Given the description of an element on the screen output the (x, y) to click on. 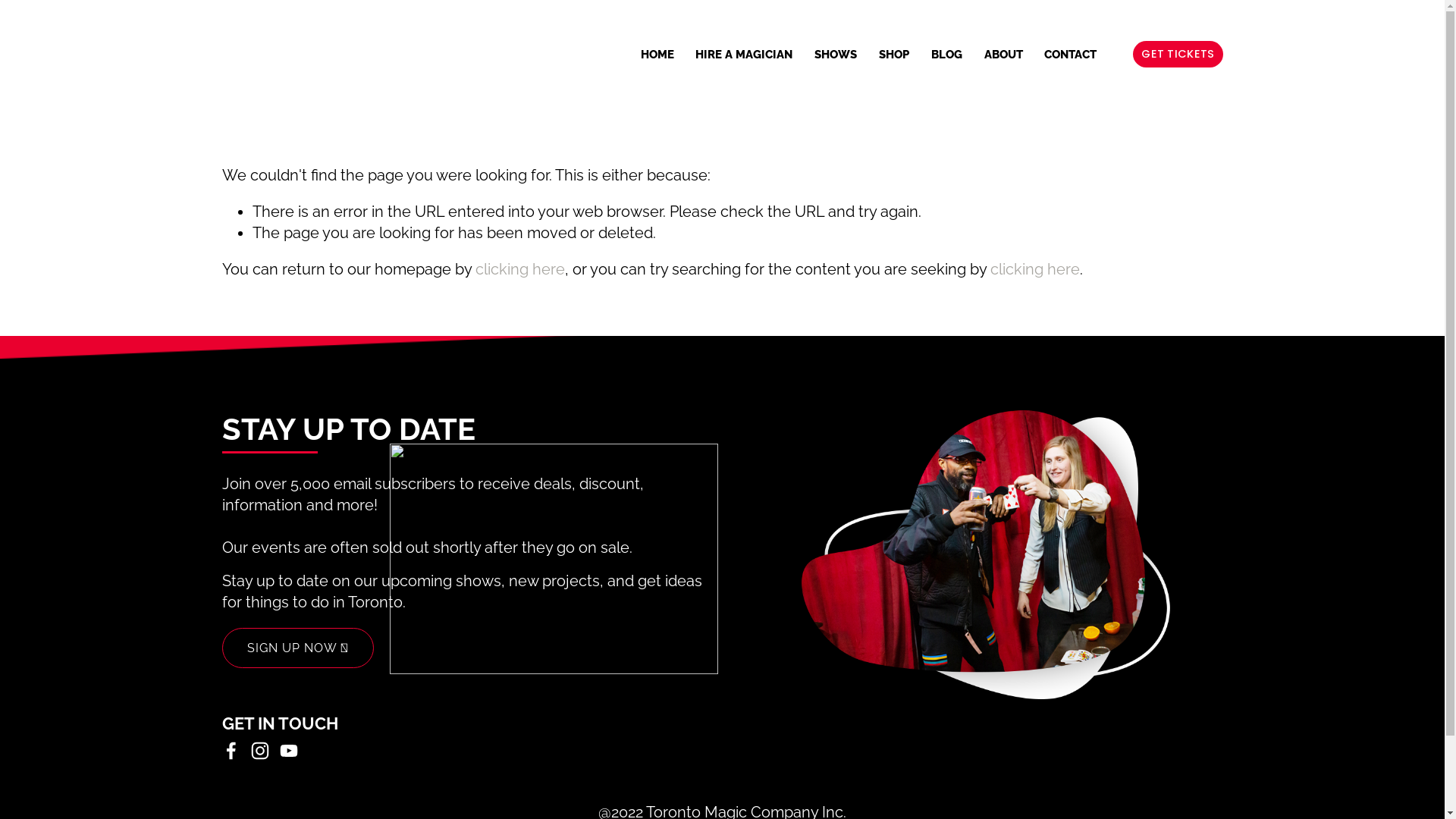
clicking here Element type: text (1034, 269)
ABOUT Element type: text (1003, 54)
clicking here Element type: text (519, 269)
GET TICKETS Element type: text (1177, 53)
HIRE A MAGICIAN Element type: text (743, 54)
CONTACT Element type: text (1070, 54)
BLOG Element type: text (946, 54)
SHOWS Element type: text (835, 54)
HOME Element type: text (657, 54)
SHOP Element type: text (893, 54)
